Given the description of an element on the screen output the (x, y) to click on. 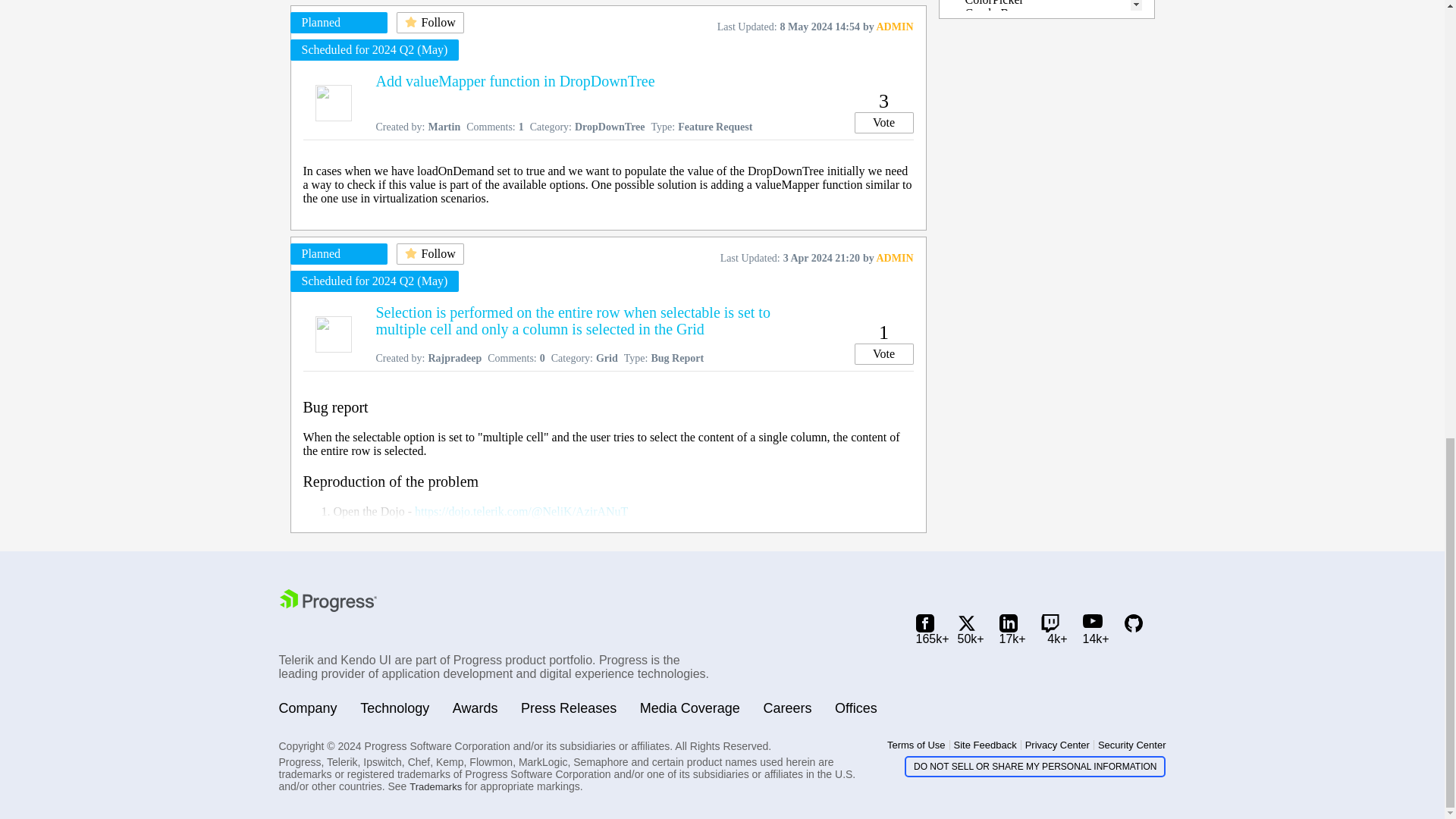
Follow (429, 22)
Vote (882, 353)
Add valueMapper function in DropDownTree (515, 80)
Follow (429, 253)
Vote (882, 122)
